Given the description of an element on the screen output the (x, y) to click on. 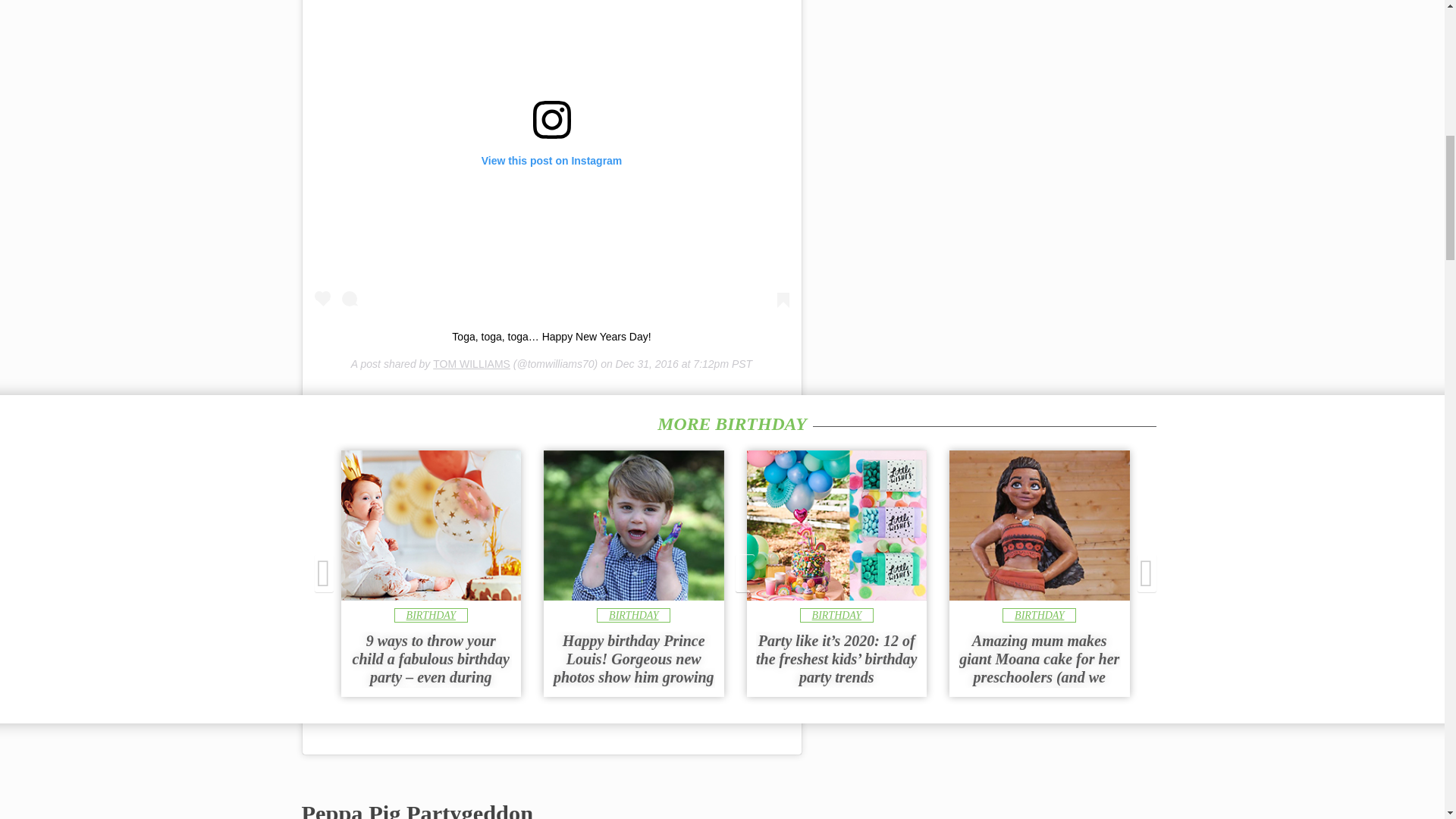
TOM WILLIAMS (471, 363)
